Given the description of an element on the screen output the (x, y) to click on. 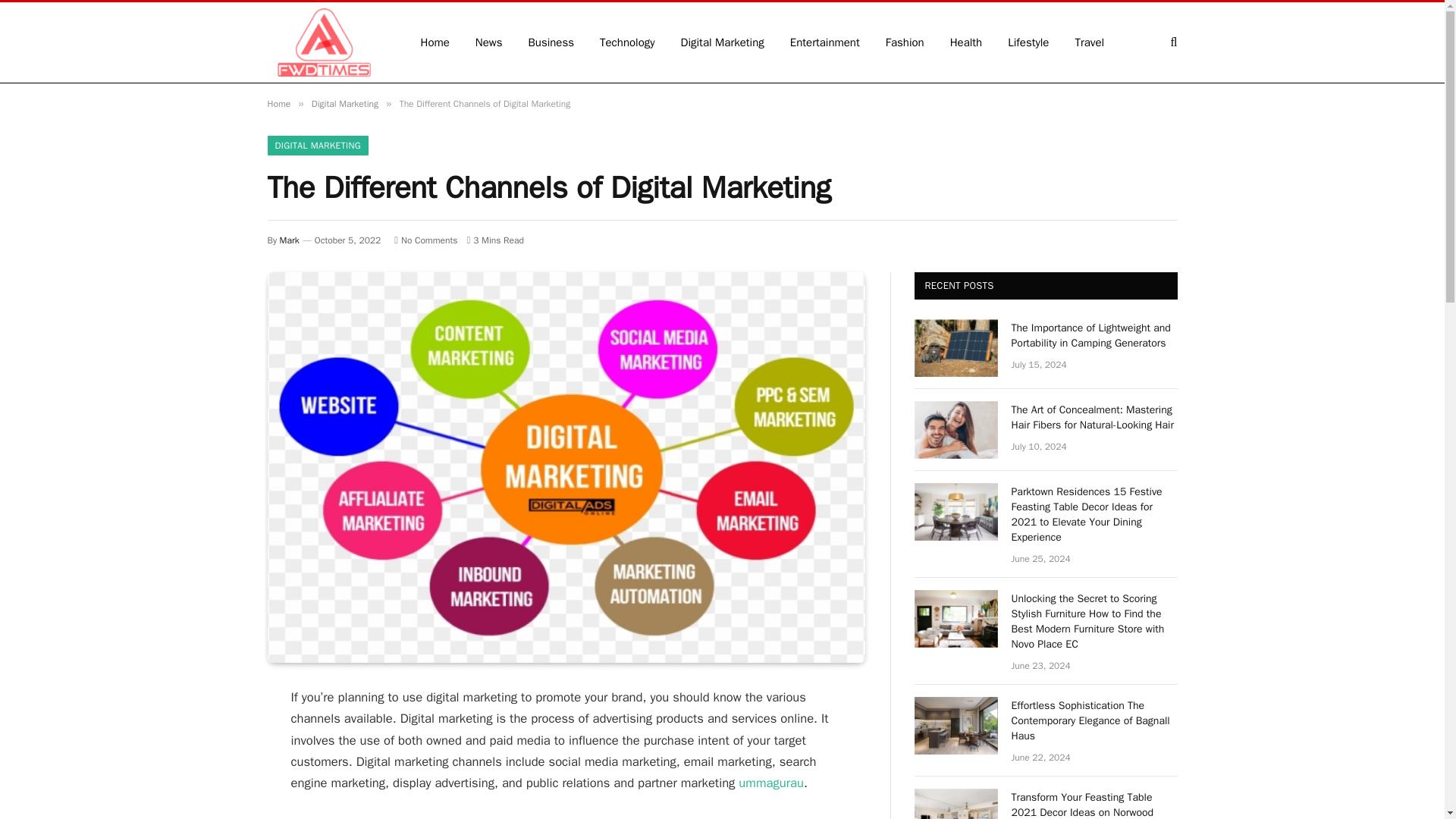
Posts by Mark (289, 240)
Digital Marketing (344, 103)
Business (551, 42)
Digital Marketing (722, 42)
Home (277, 103)
Technology (627, 42)
Mark (289, 240)
Fwdtimes (323, 42)
No Comments (425, 240)
ummagurau (770, 782)
